Given the description of an element on the screen output the (x, y) to click on. 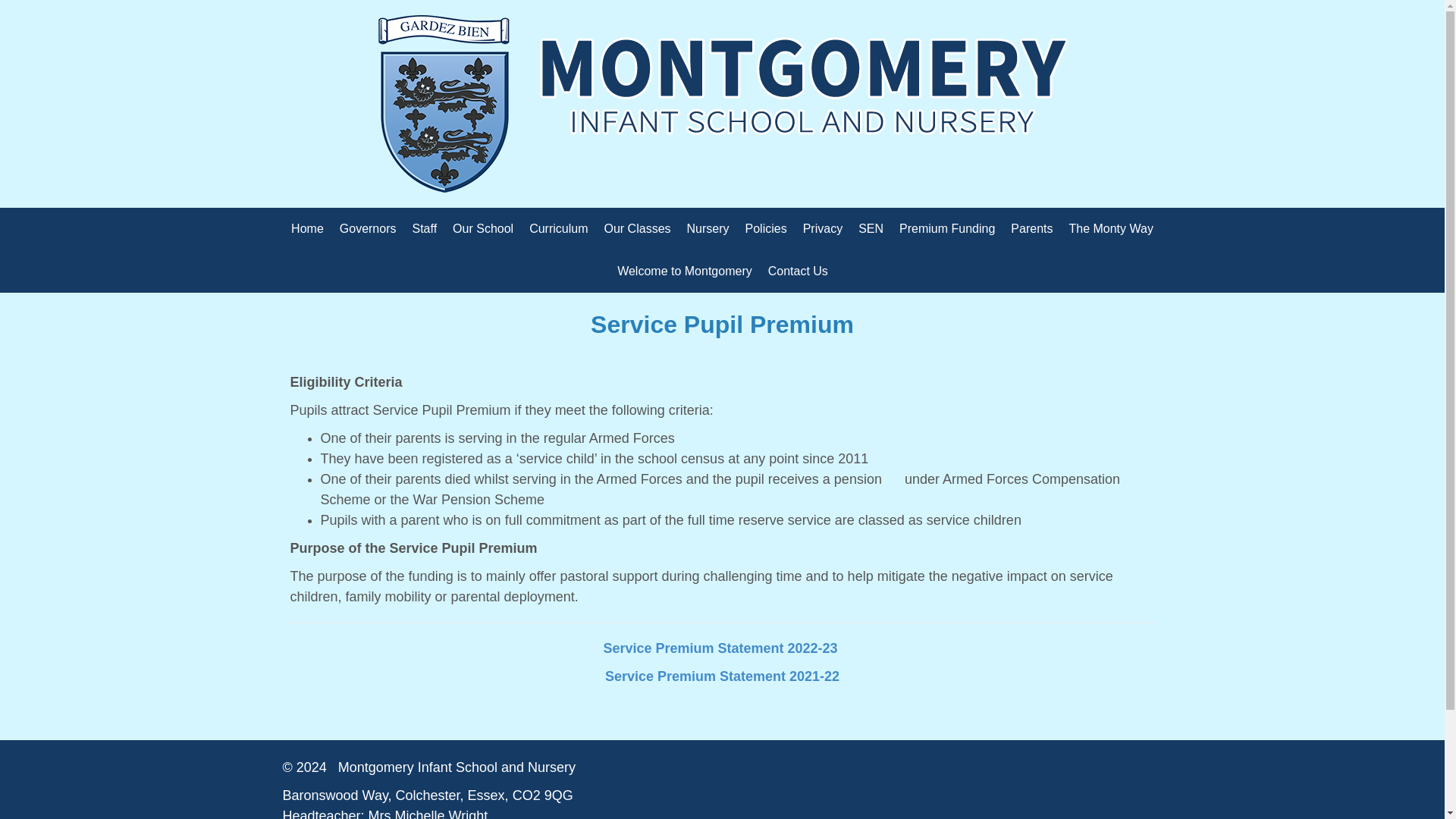
SEN (870, 229)
Our School (483, 229)
Welcome to Montgomery (685, 271)
Staff (424, 229)
Curriculum (558, 229)
Policies (766, 229)
Nursery (707, 229)
cropped-header-logo (722, 103)
Privacy (822, 229)
The Monty Way (1110, 229)
